Given the description of an element on the screen output the (x, y) to click on. 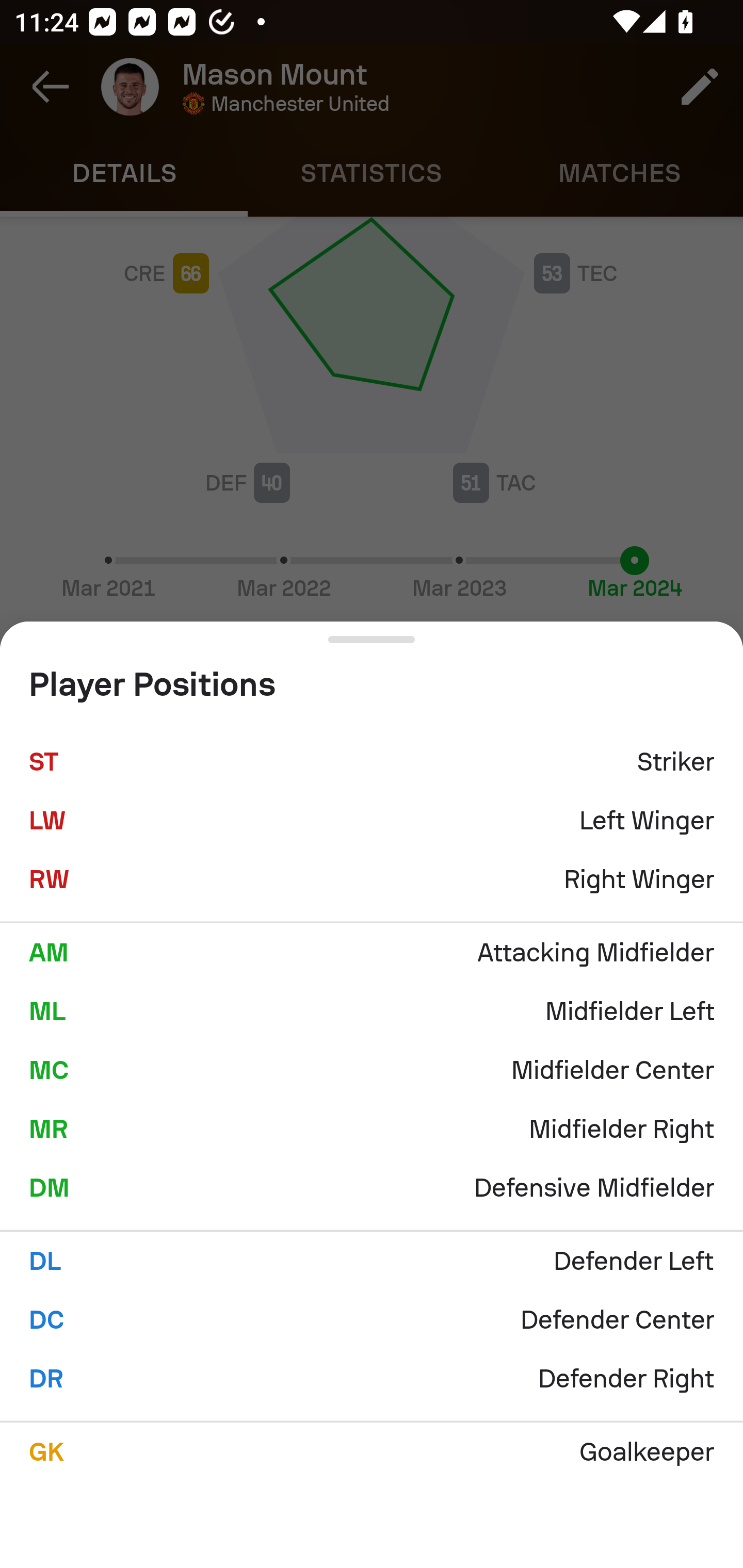
ST Striker (371, 761)
LW Left Winger (371, 820)
RW Right Winger (371, 879)
AM Attacking Midfielder (371, 952)
ML Midfielder Left (371, 1011)
MC Midfielder Center (371, 1070)
MR Midfielder Right (371, 1128)
DM Defensive Midfielder (371, 1187)
DL Defender Left (371, 1261)
DC Defender Center (371, 1320)
DR Defender Right (371, 1379)
GK Goalkeeper (371, 1451)
